Given the description of an element on the screen output the (x, y) to click on. 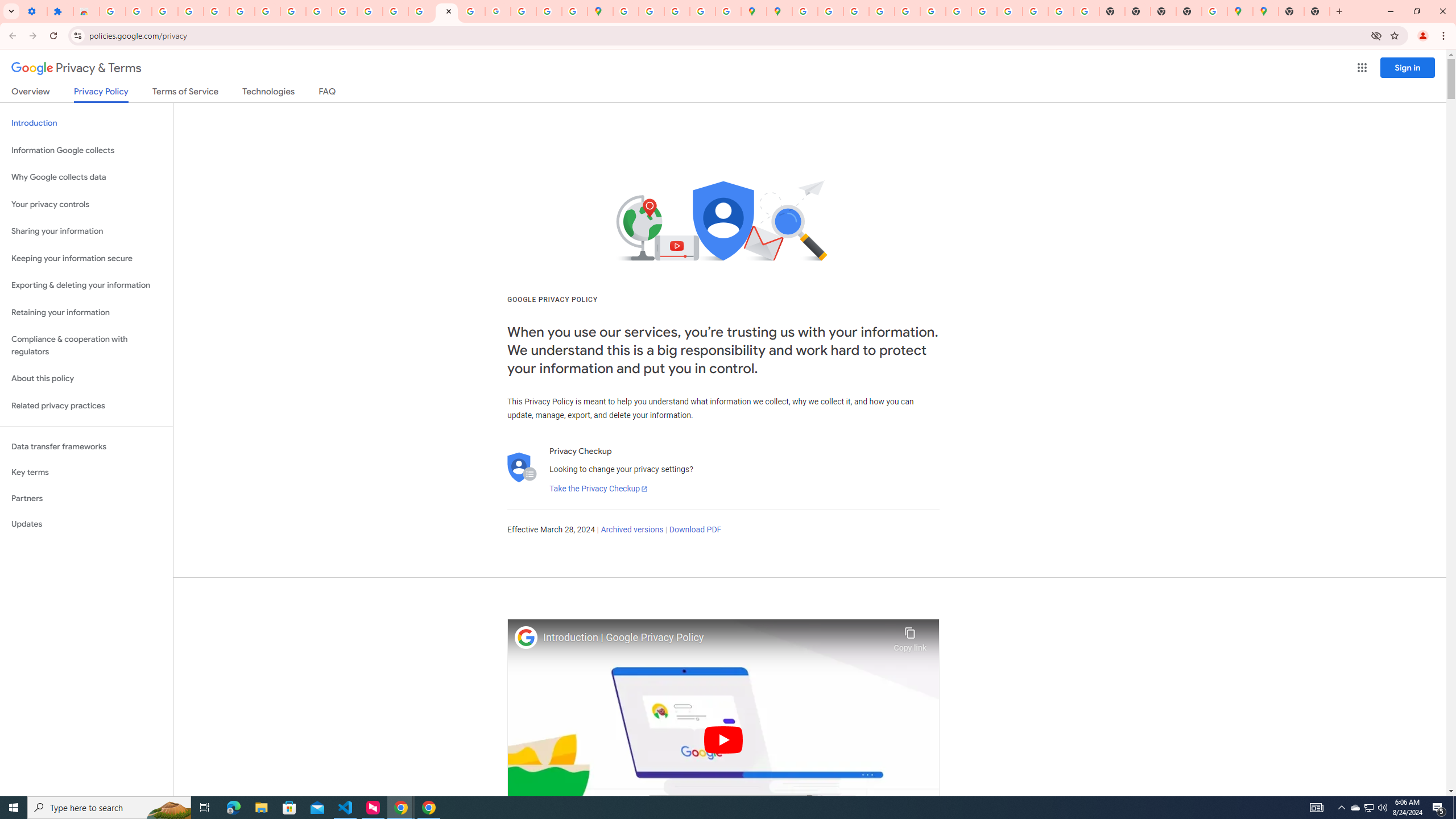
Play (723, 739)
Privacy Help Center - Policies Help (395, 11)
Key terms (86, 472)
Compliance & cooperation with regulators (86, 345)
Information Google collects (86, 150)
Sign in - Google Accounts (112, 11)
Download PDF (695, 529)
